Given the description of an element on the screen output the (x, y) to click on. 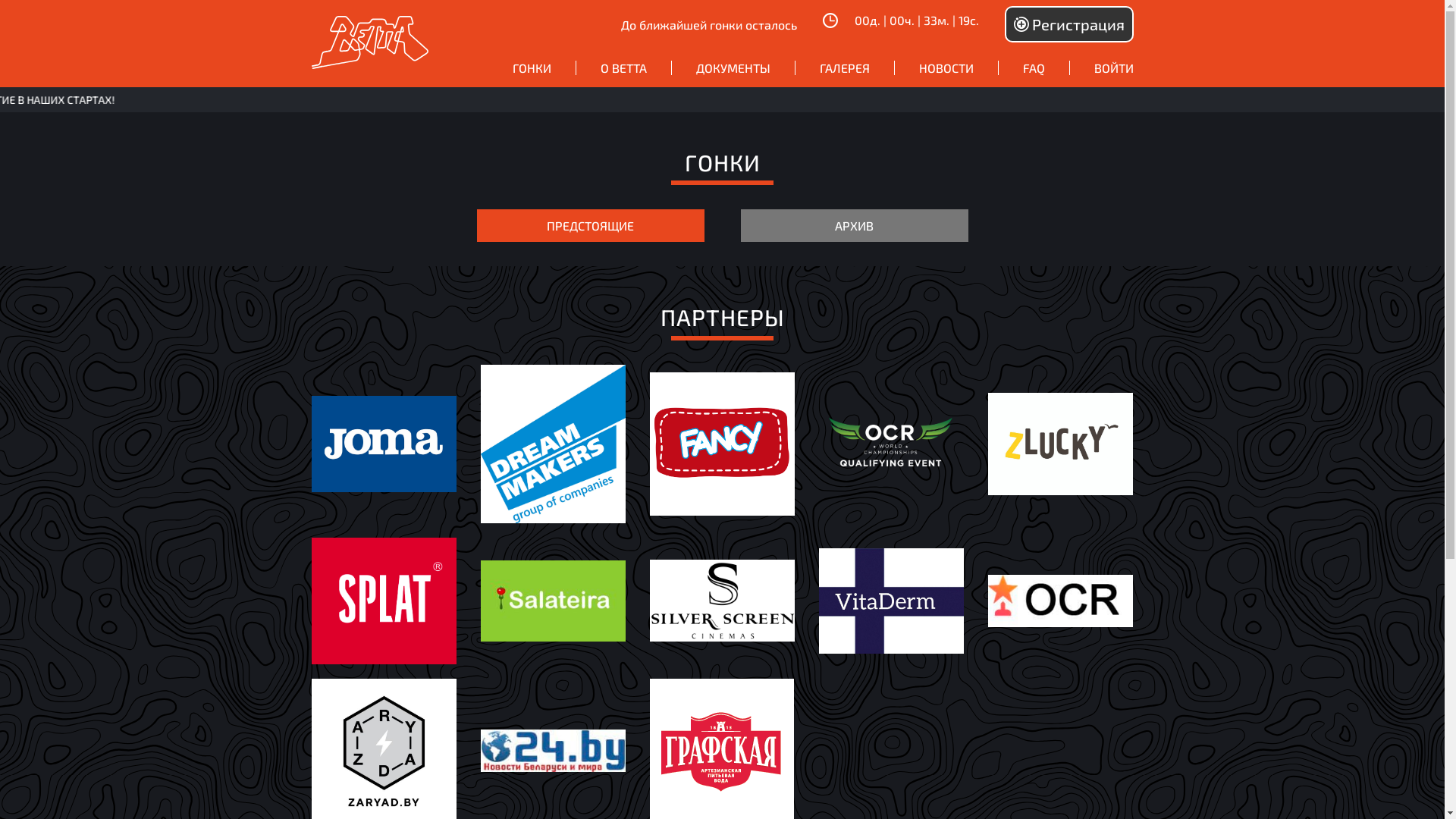
FAQ Element type: text (1033, 67)
